Given the description of an element on the screen output the (x, y) to click on. 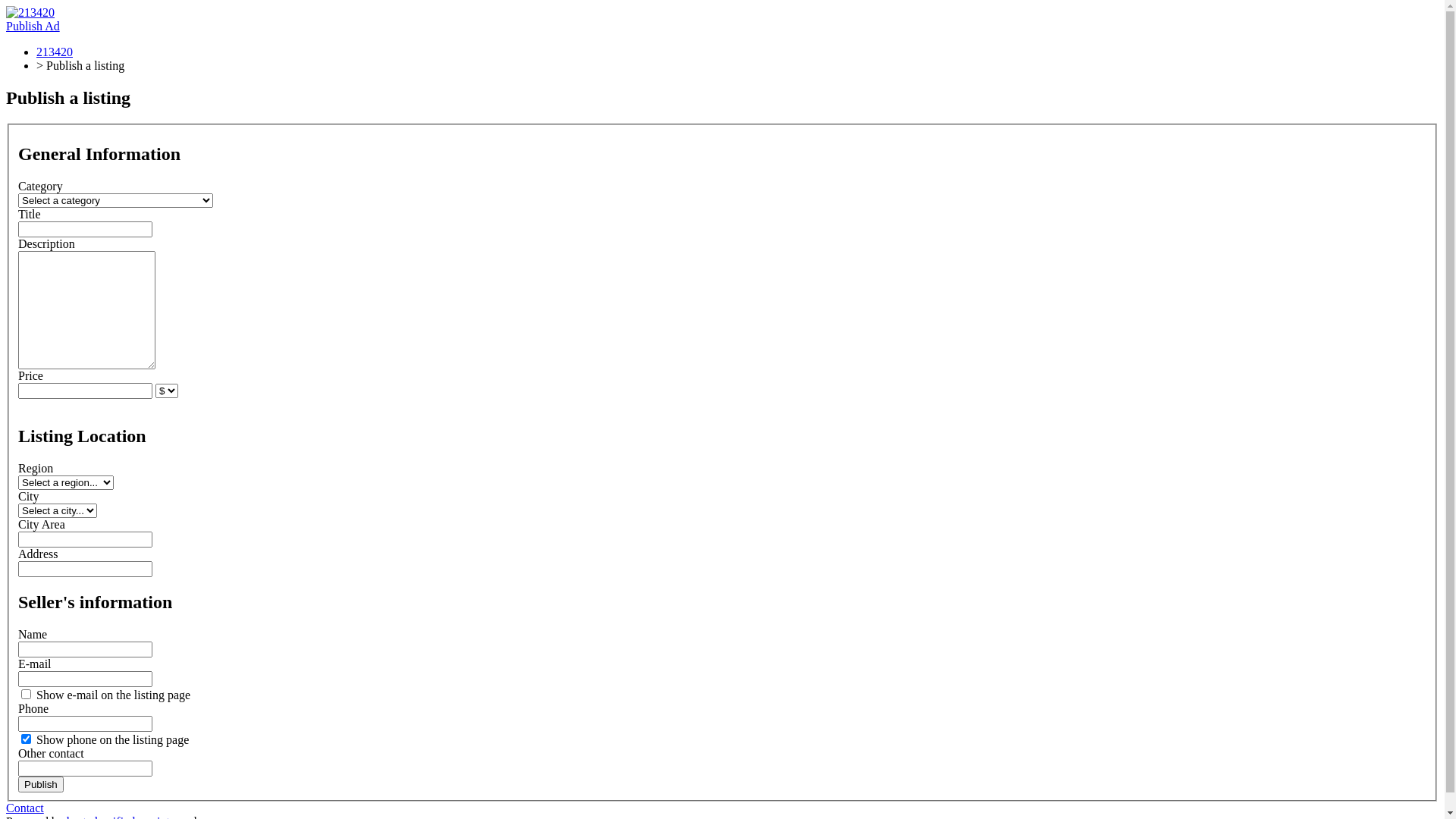
213420 Element type: text (54, 51)
Publish Ad Element type: text (32, 25)
Contact Element type: text (24, 807)
Publish Element type: text (40, 784)
